Given the description of an element on the screen output the (x, y) to click on. 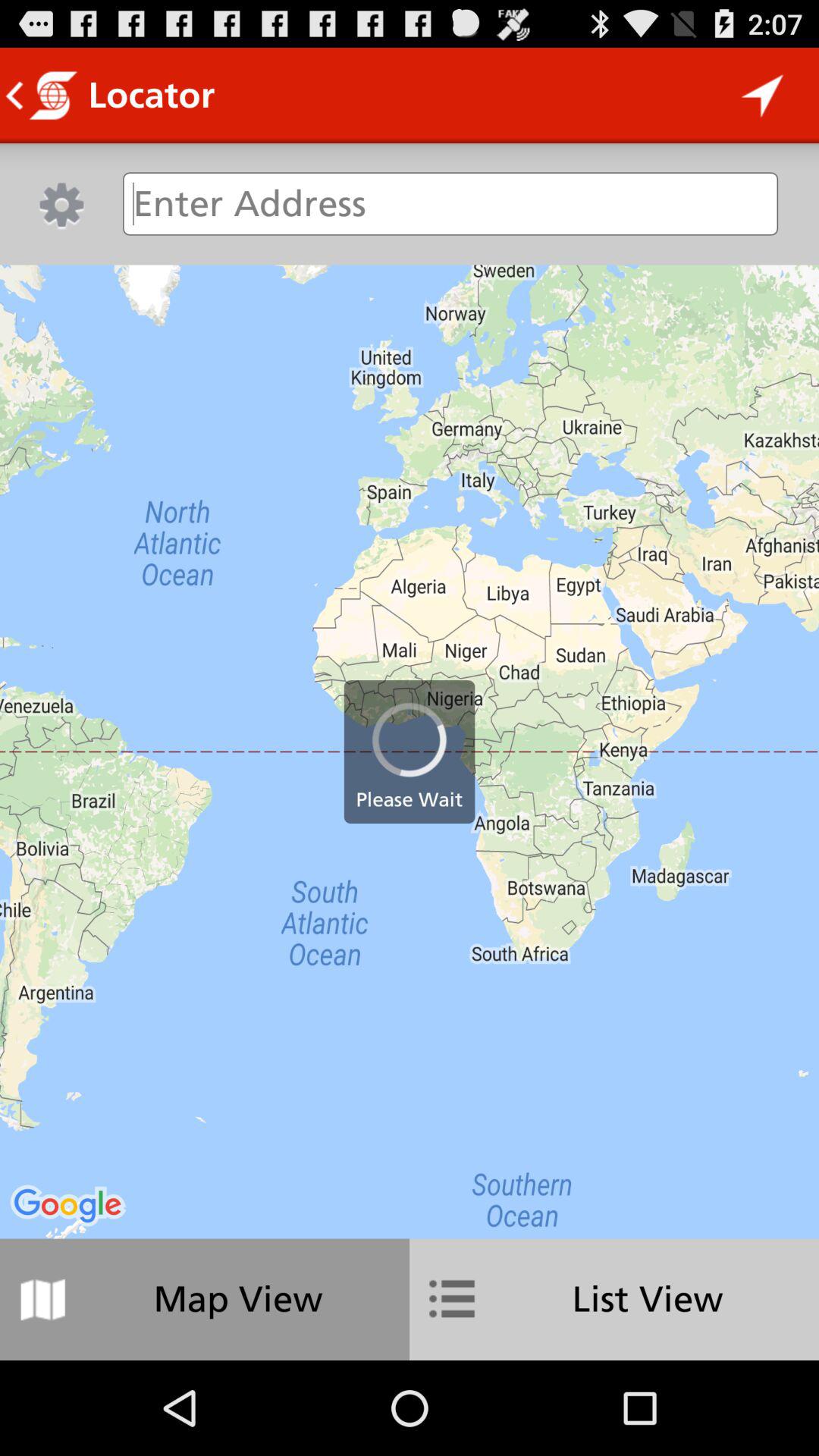
tap icon to the right of the locator (763, 95)
